Given the description of an element on the screen output the (x, y) to click on. 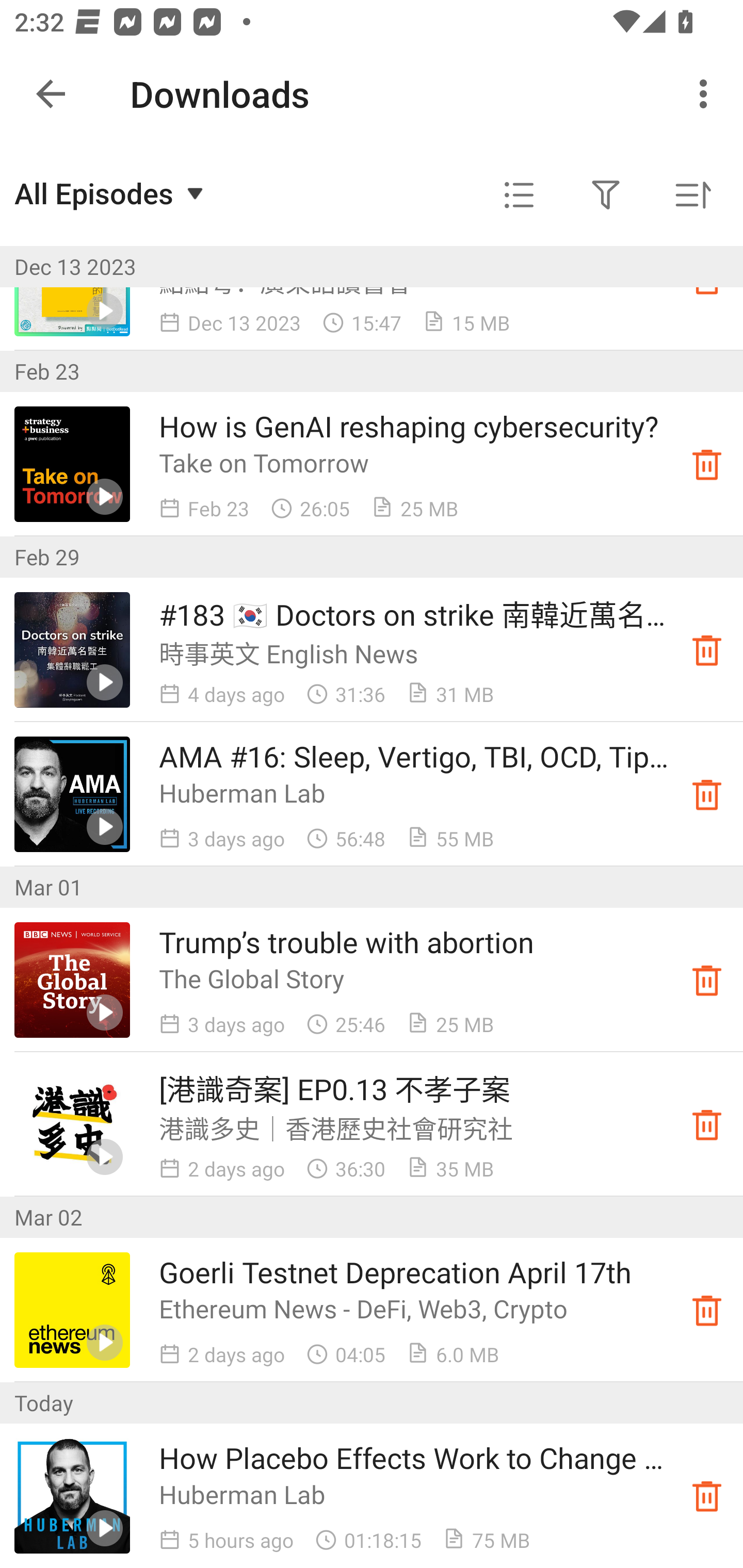
Navigate up (50, 93)
More options (706, 93)
All Episodes (111, 192)
 (518, 195)
 (605, 195)
 Sorted by oldest first (692, 195)
Downloaded (706, 278)
Downloaded (706, 464)
Downloaded (706, 649)
Downloaded (706, 794)
Downloaded (706, 979)
Downloaded (706, 1124)
Downloaded (706, 1309)
Downloaded (706, 1495)
